Given the description of an element on the screen output the (x, y) to click on. 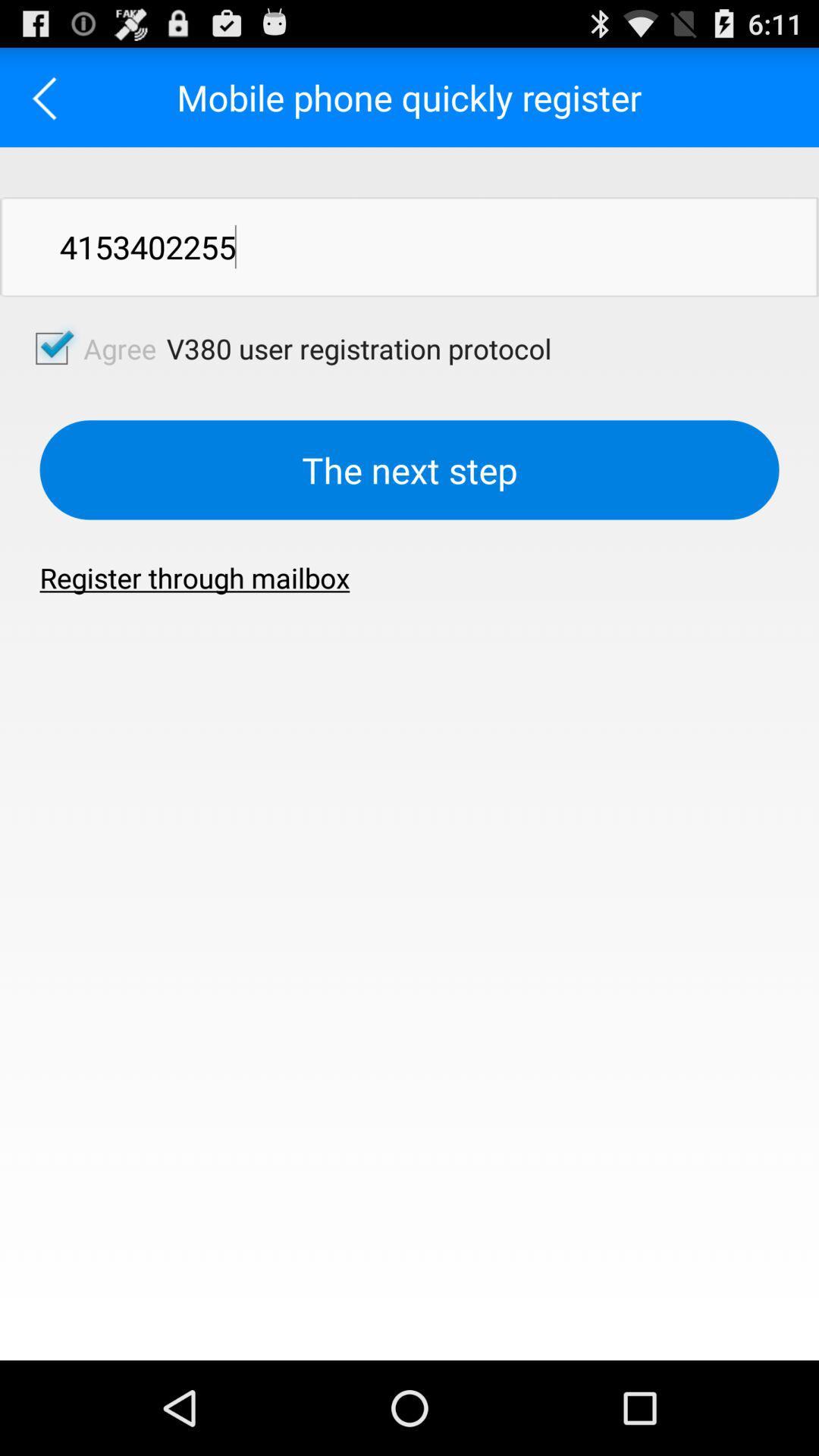
go to previous (49, 97)
